Given the description of an element on the screen output the (x, y) to click on. 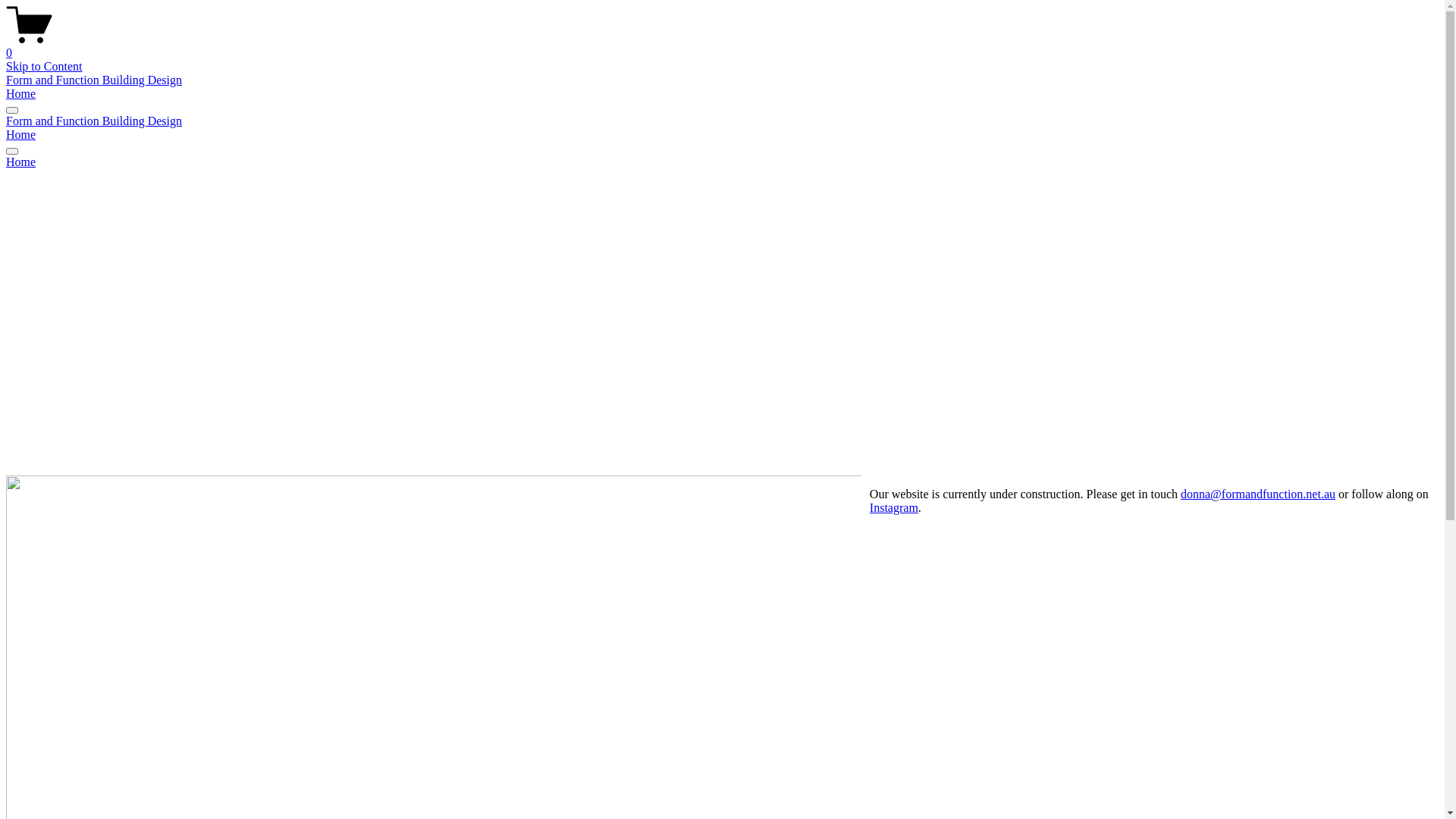
0 Element type: text (722, 45)
Instagram Element type: text (893, 506)
donna@formandfunction.net.au Element type: text (1257, 492)
Home Element type: text (722, 162)
Form and Function Building Design Element type: text (94, 120)
Skip to Content Element type: text (43, 65)
Home Element type: text (20, 93)
Form and Function Building Design Element type: text (94, 79)
Home Element type: text (20, 134)
